Given the description of an element on the screen output the (x, y) to click on. 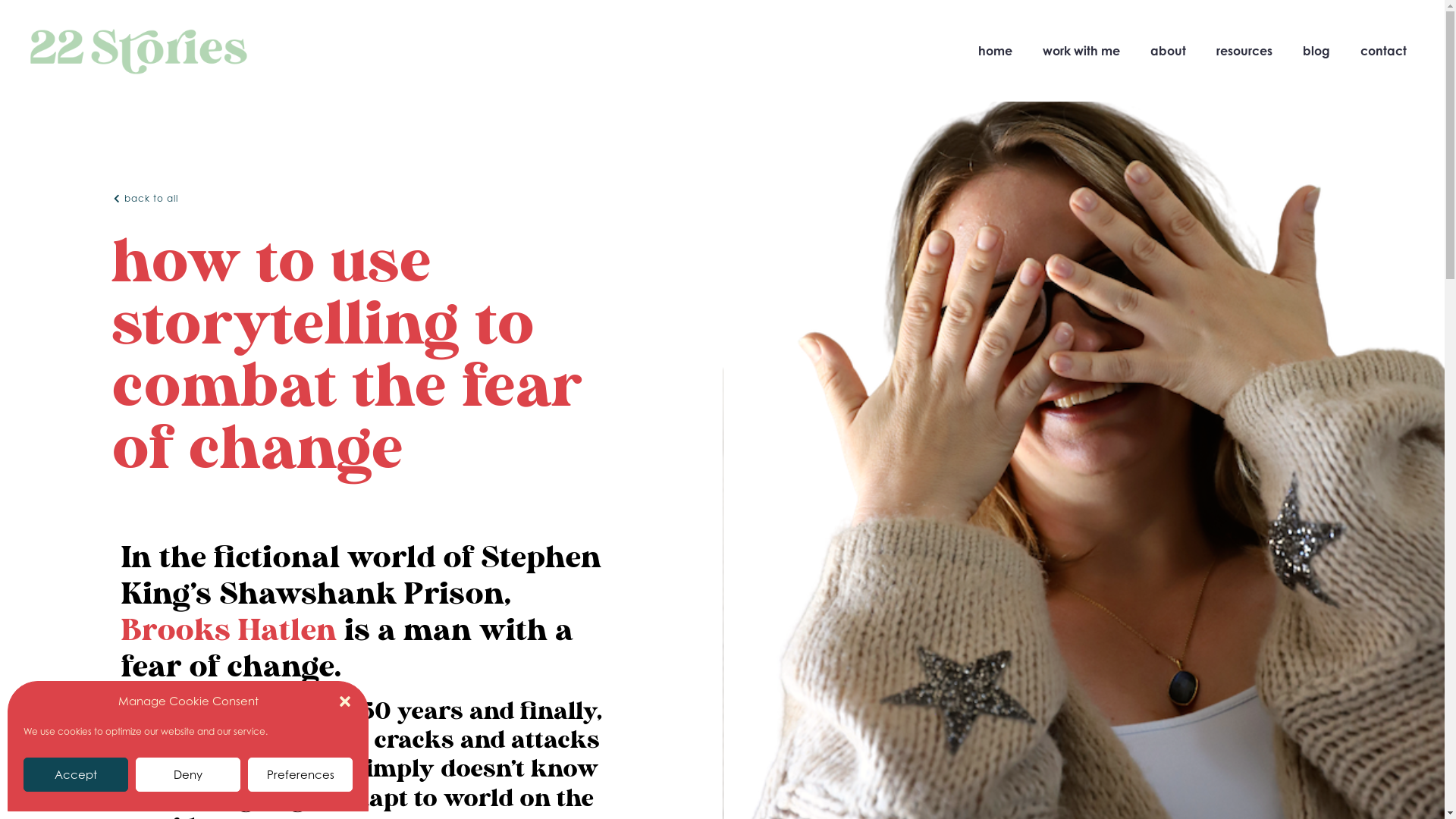
contact Element type: text (1383, 50)
Accept Element type: text (75, 774)
blog Element type: text (1316, 50)
Preferences Element type: text (299, 774)
work with me Element type: text (1081, 50)
home Element type: text (995, 50)
Deny Element type: text (187, 774)
about Element type: text (1168, 50)
Brooks Hatlen Element type: text (228, 629)
resources Element type: text (1244, 50)
back to all Element type: text (145, 198)
